Given the description of an element on the screen output the (x, y) to click on. 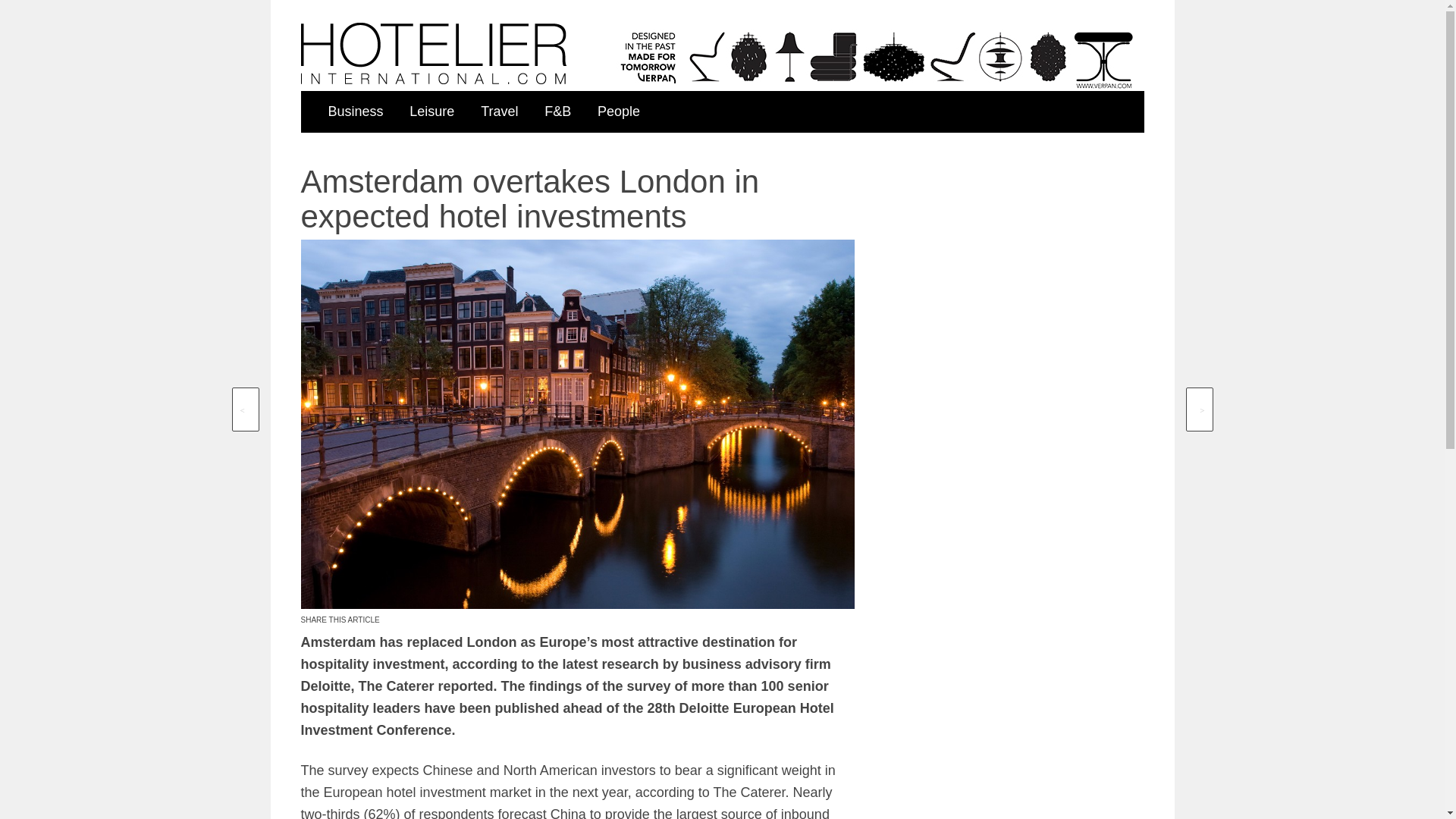
Business (354, 111)
Search (1052, 166)
Hotelier International (432, 53)
People (618, 111)
Leisure (431, 111)
Travel (498, 111)
